Given the description of an element on the screen output the (x, y) to click on. 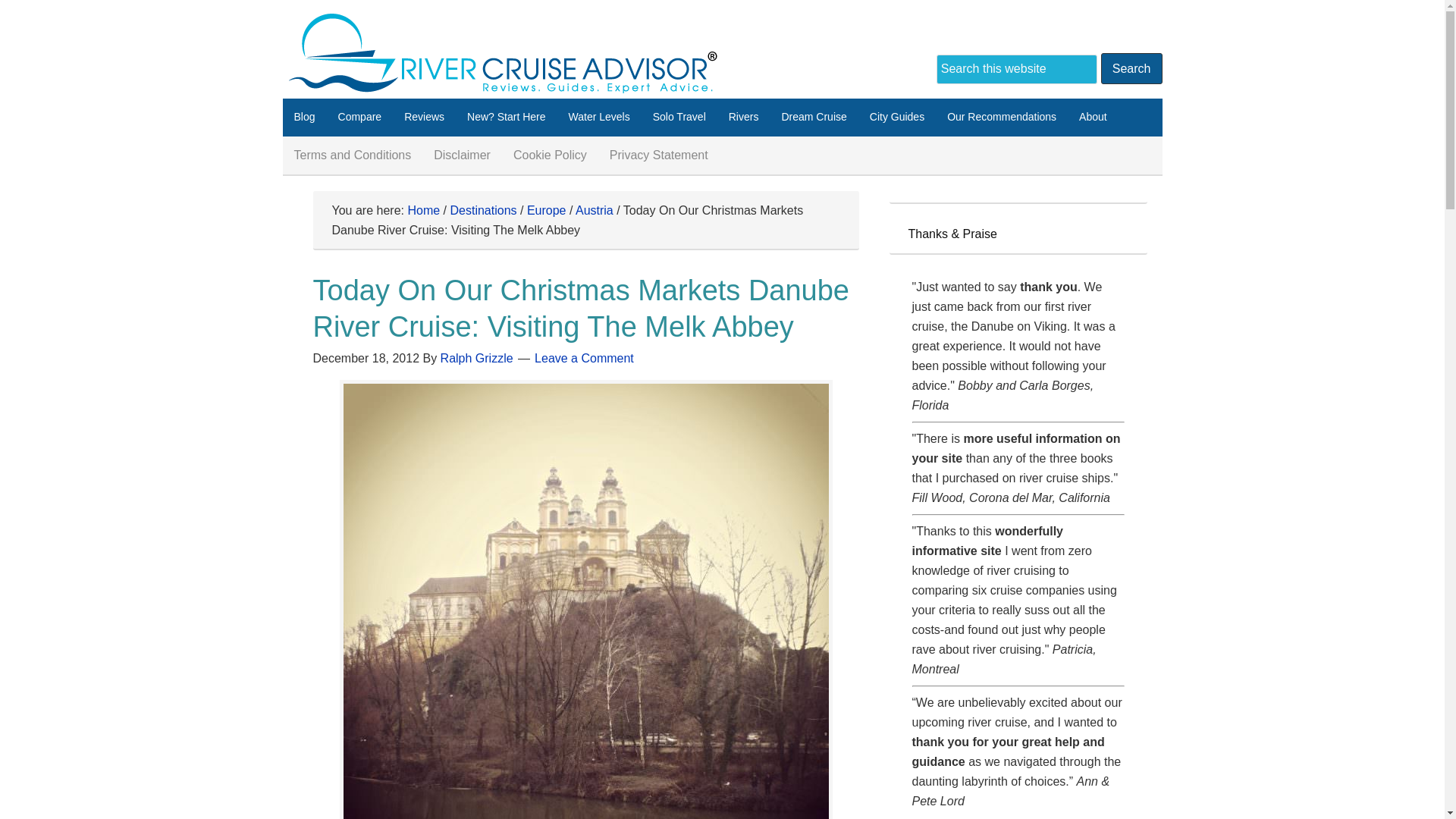
Privacy Statement (658, 155)
Search (1130, 68)
Water Levels (599, 116)
Solo Travel (679, 116)
Home (423, 210)
About (1092, 116)
Dream Cruise (813, 116)
New? Start Here (505, 116)
Europe (546, 210)
Blog (304, 116)
